Given the description of an element on the screen output the (x, y) to click on. 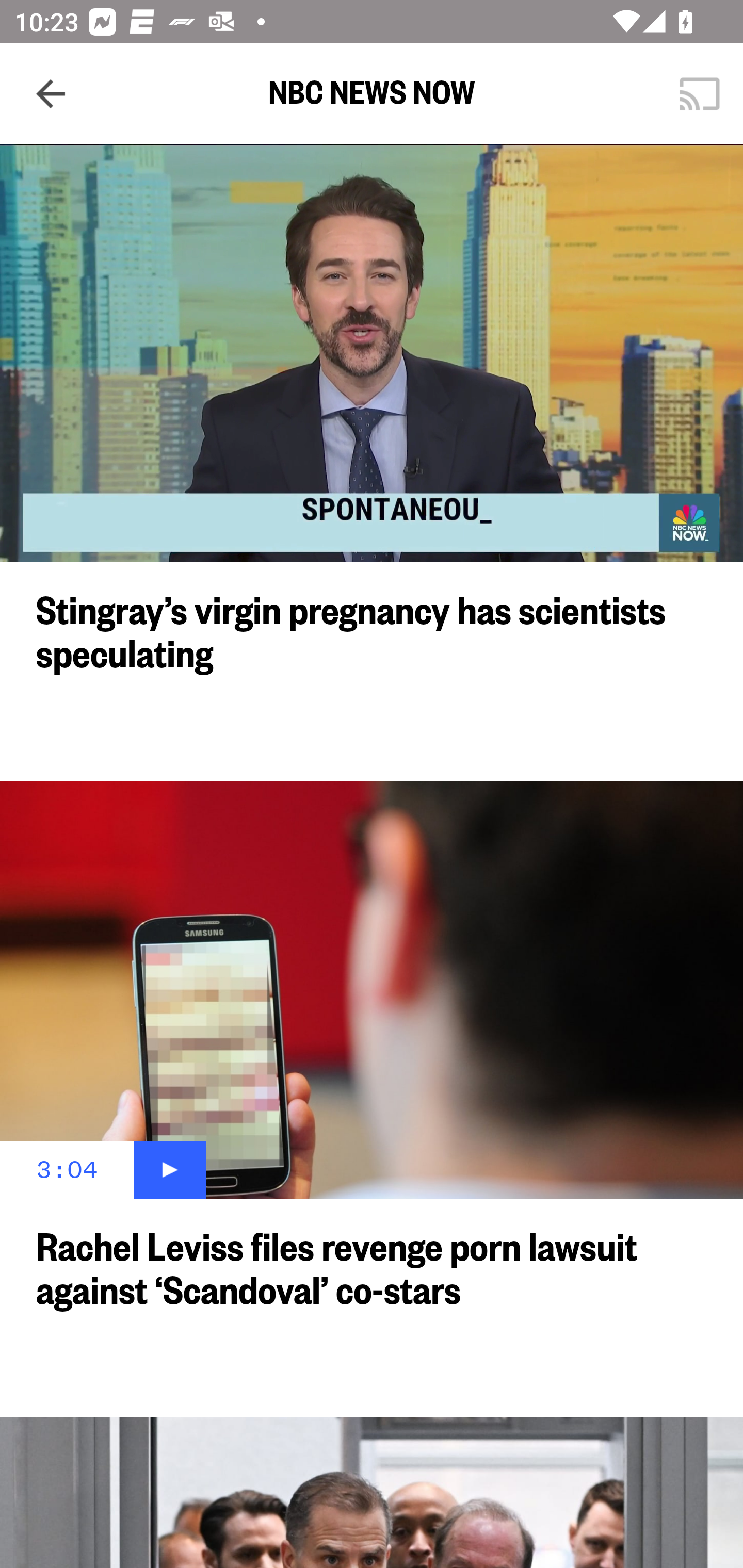
Navigate up (50, 93)
Cast. Disconnected (699, 93)
